Given the description of an element on the screen output the (x, y) to click on. 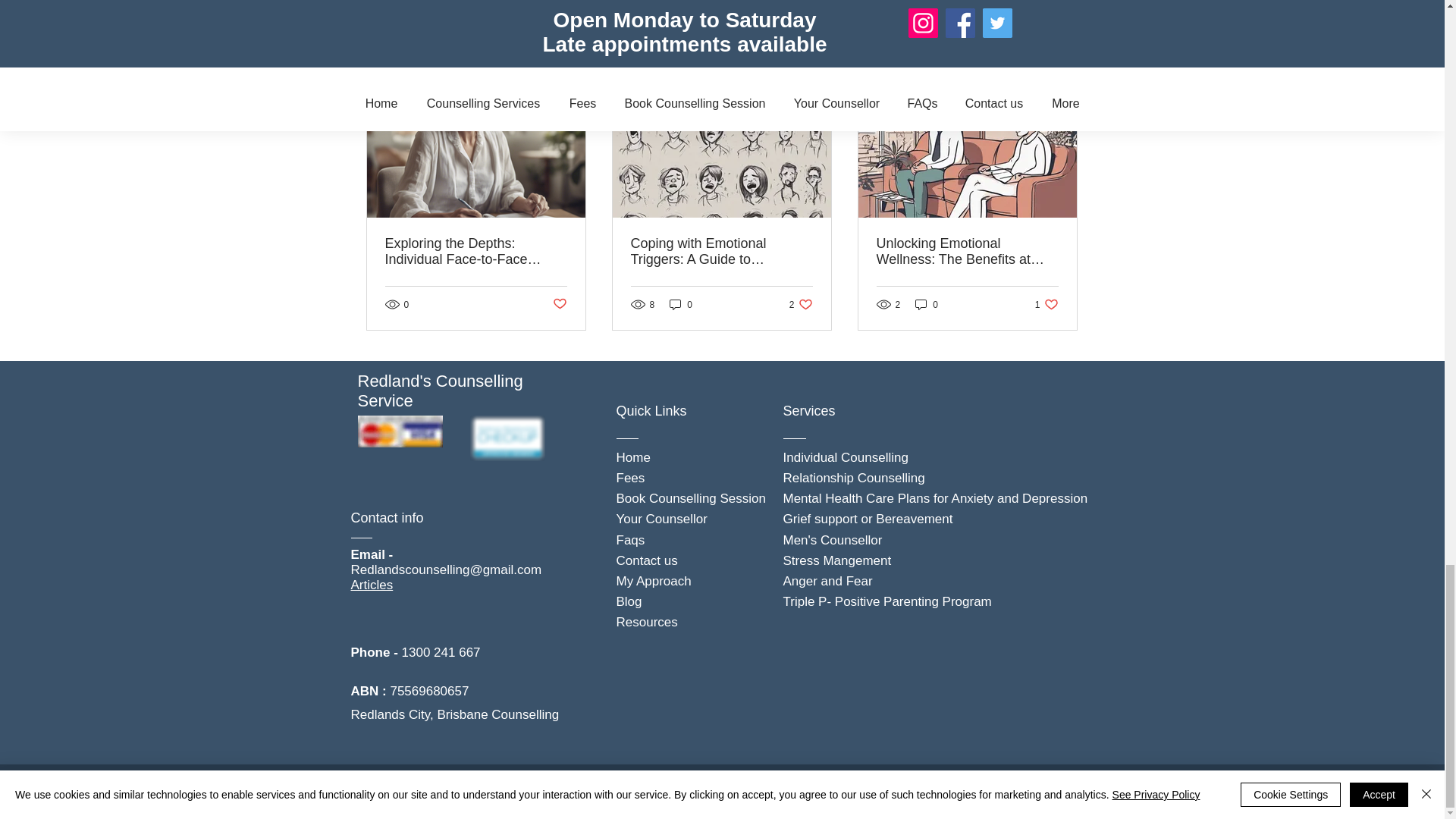
0 (681, 304)
Post not marked as liked (558, 304)
See All (1061, 67)
